Given the description of an element on the screen output the (x, y) to click on. 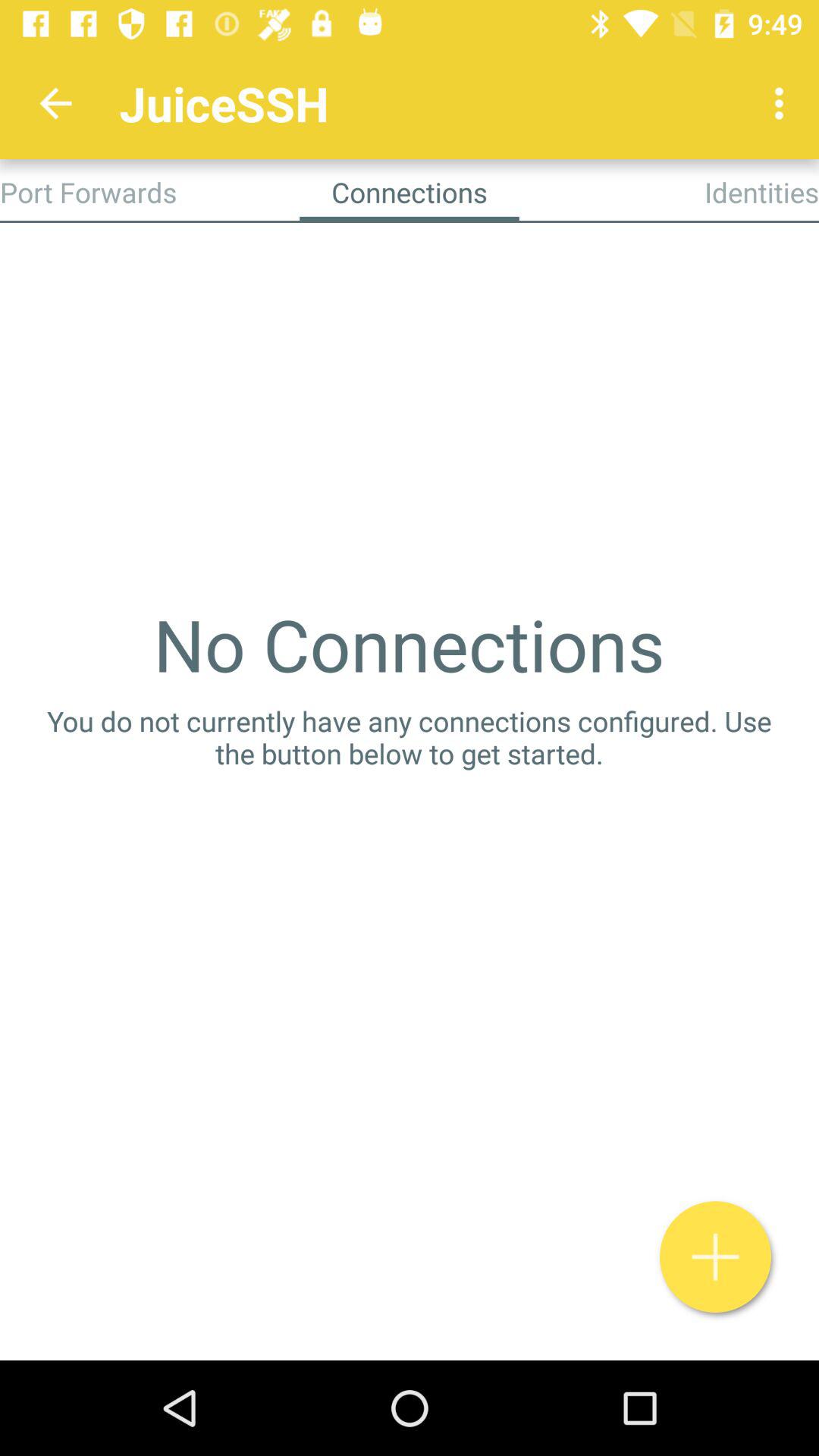
add new connection (715, 1256)
